Given the description of an element on the screen output the (x, y) to click on. 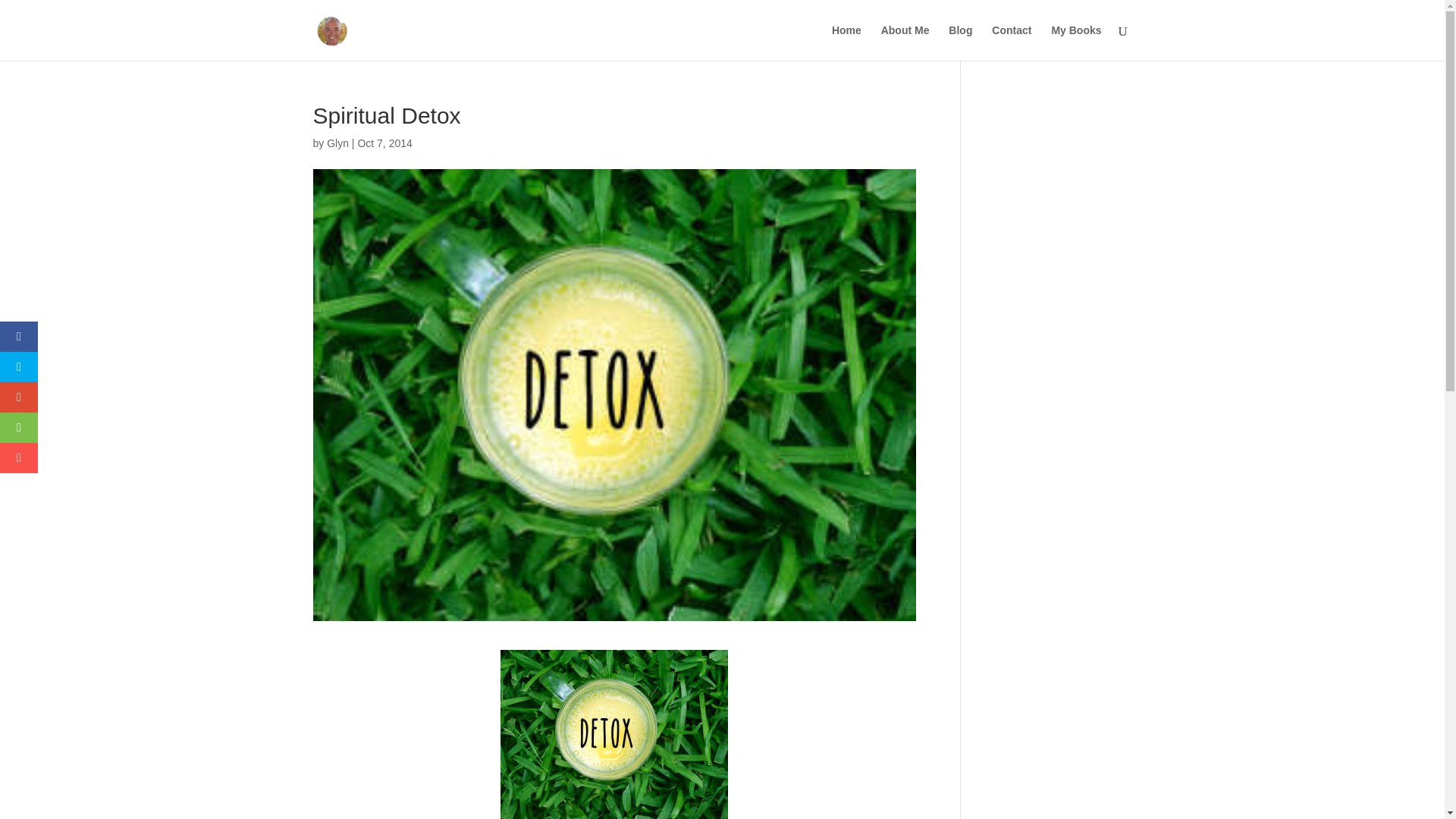
My Books (1075, 42)
Contact (1010, 42)
Home (846, 42)
About Me (905, 42)
Blog (960, 42)
Glyn (337, 143)
Posts by Glyn (337, 143)
